Given the description of an element on the screen output the (x, y) to click on. 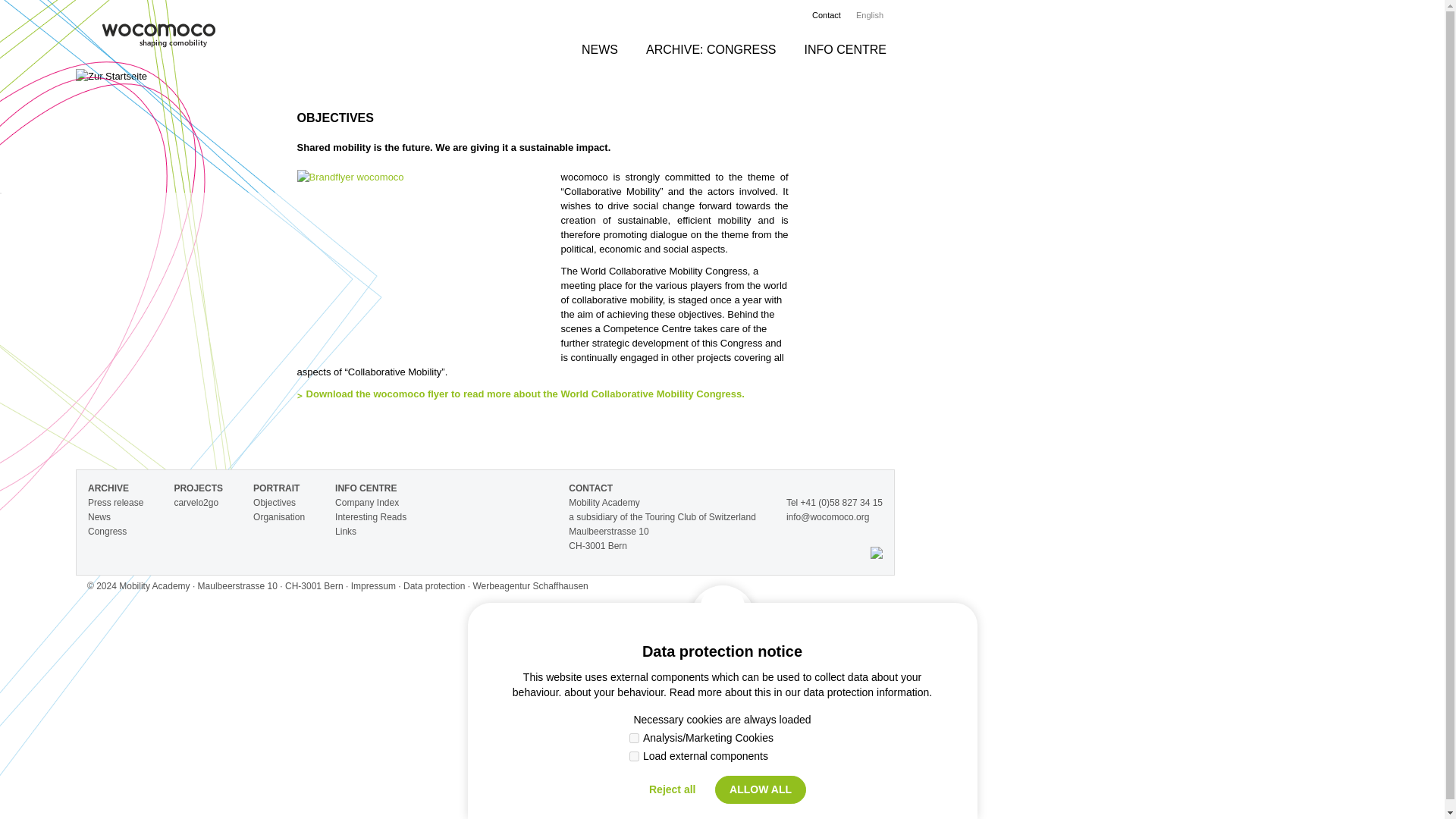
Zur Startseite (158, 37)
NEWS (599, 48)
Contact (826, 14)
ARCHIVE: CONGRESS (711, 48)
English (875, 14)
